Given the description of an element on the screen output the (x, y) to click on. 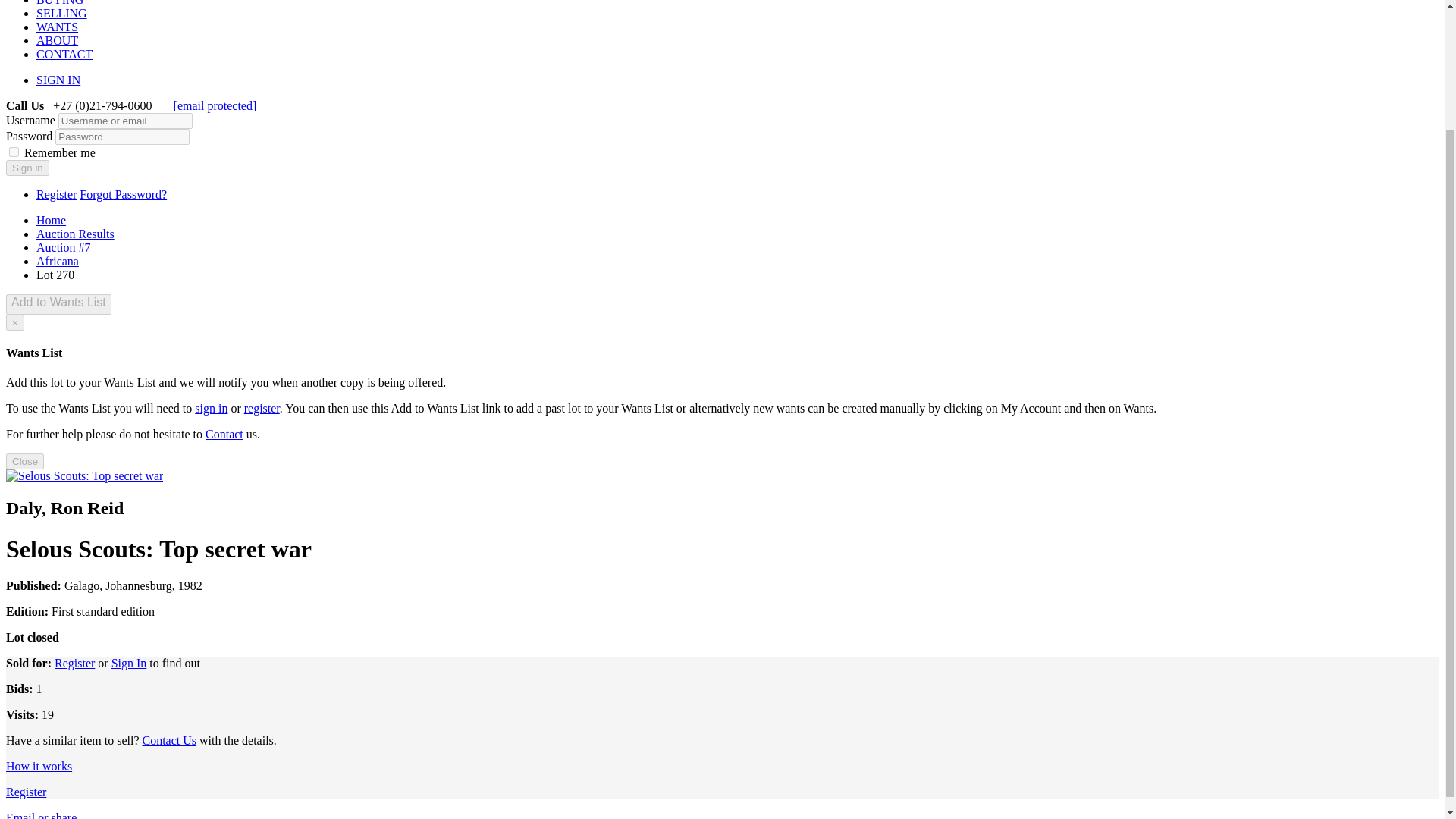
How it works (38, 766)
1 (13, 152)
CONTACT (64, 53)
Auction Results (75, 233)
sign in (211, 408)
BUYING (59, 2)
Register (56, 194)
SIGN IN (58, 79)
Africana (57, 260)
Register (25, 791)
WANTS (57, 26)
register (261, 408)
SELLING (61, 12)
Close (24, 461)
ABOUT (57, 40)
